Given the description of an element on the screen output the (x, y) to click on. 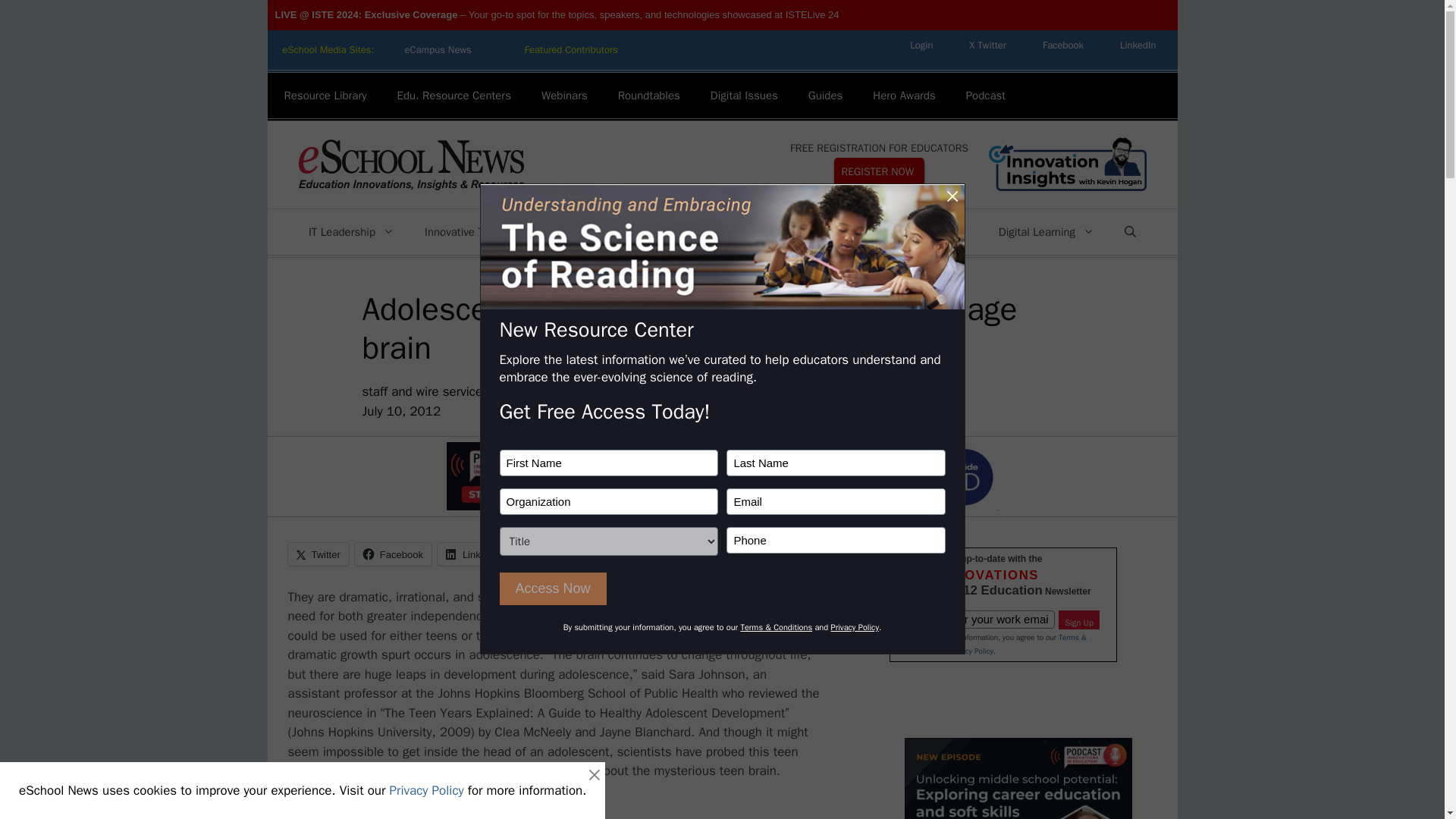
Login (921, 45)
Guides (826, 94)
Featured Contributors (571, 50)
Webinars (563, 94)
eSchool Media Sites: (327, 50)
Click to share on Twitter (318, 553)
Edu. Resource Centers (453, 94)
X Twitter (987, 45)
LinkedIn (1138, 45)
Podcast (985, 94)
eClassroom News (571, 50)
Click to share on LinkedIn (473, 553)
Facebook (1063, 45)
View all posts by staff and wire services reports (447, 391)
Click to share on Facebook (392, 553)
